Given the description of an element on the screen output the (x, y) to click on. 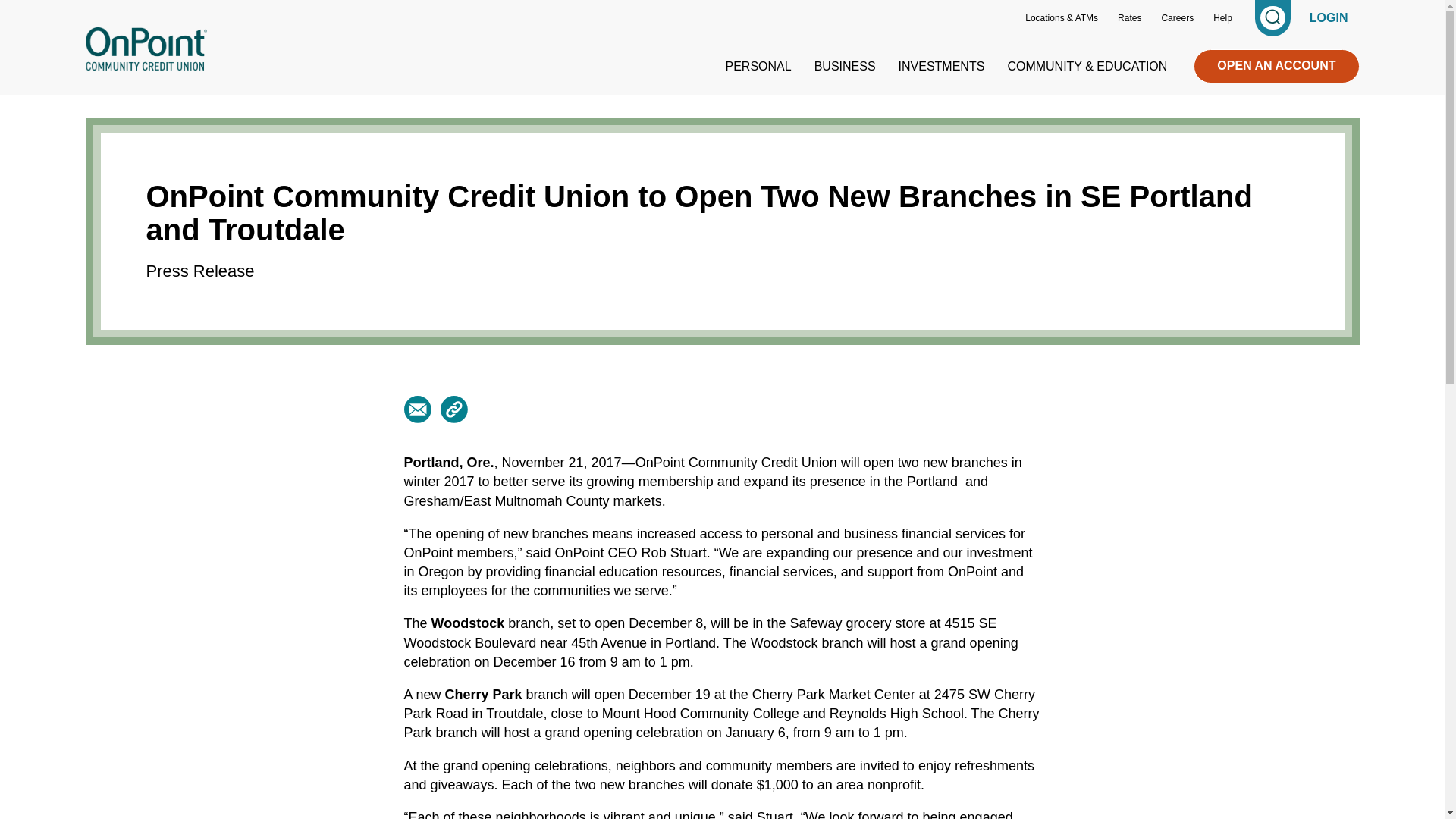
Rates (1126, 18)
Motorcycle, Boat, and RV Loans (405, 94)
Help (1220, 18)
Digital Banking (642, 94)
ITIN lending (357, 94)
Savings Accounts (126, 94)
Careers (1174, 18)
Checking Accounts (129, 94)
Auto Loans (355, 94)
LOGIN (1328, 18)
Certificates of Deposit (136, 94)
Credit Cards (358, 94)
PERSONAL (758, 66)
ACCOUNTS (119, 95)
Wire Transfers (641, 94)
